Given the description of an element on the screen output the (x, y) to click on. 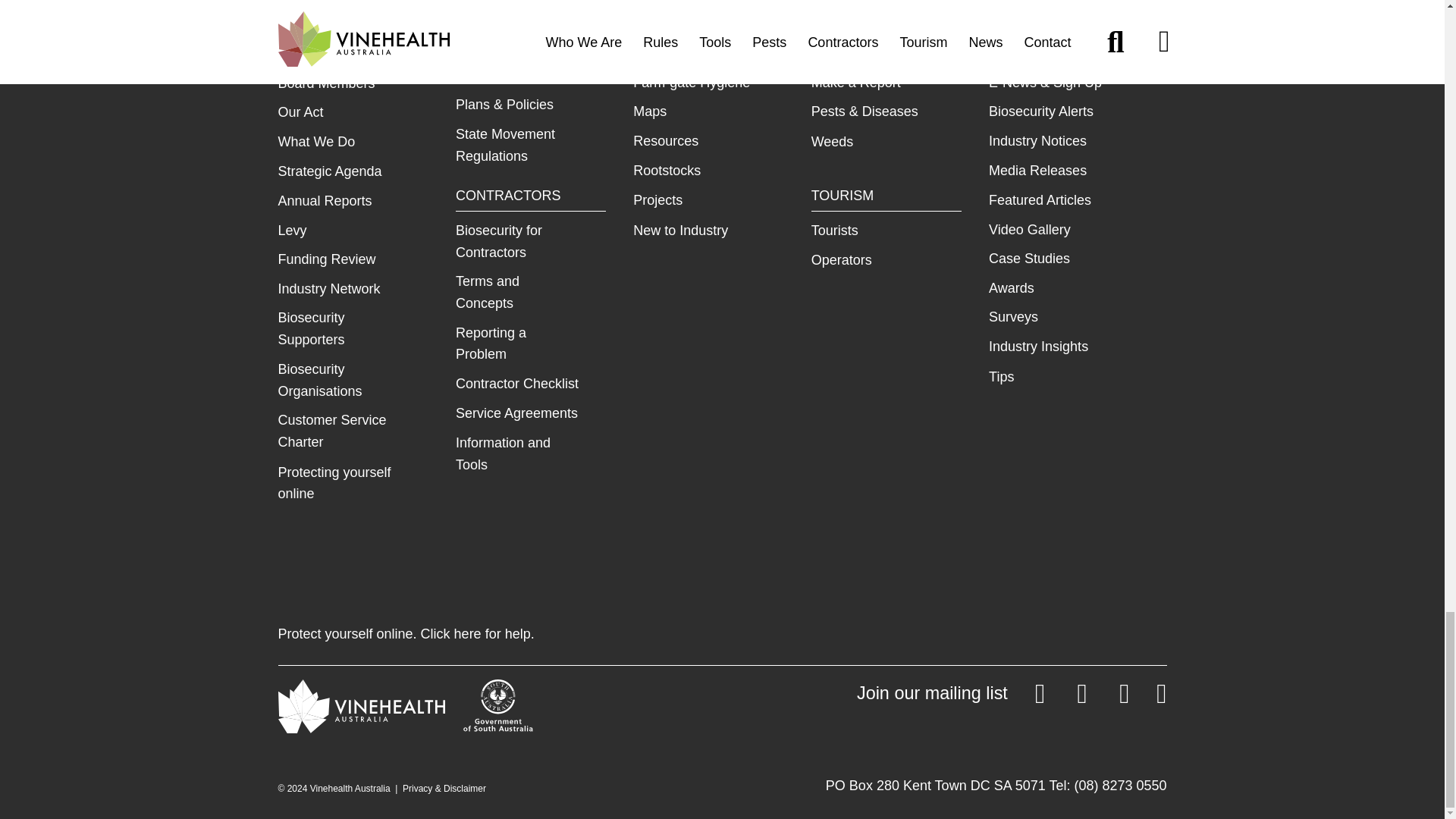
Twitter (1068, 696)
youtube (1147, 696)
Facebook (1110, 696)
Subscribe (951, 696)
